Given the description of an element on the screen output the (x, y) to click on. 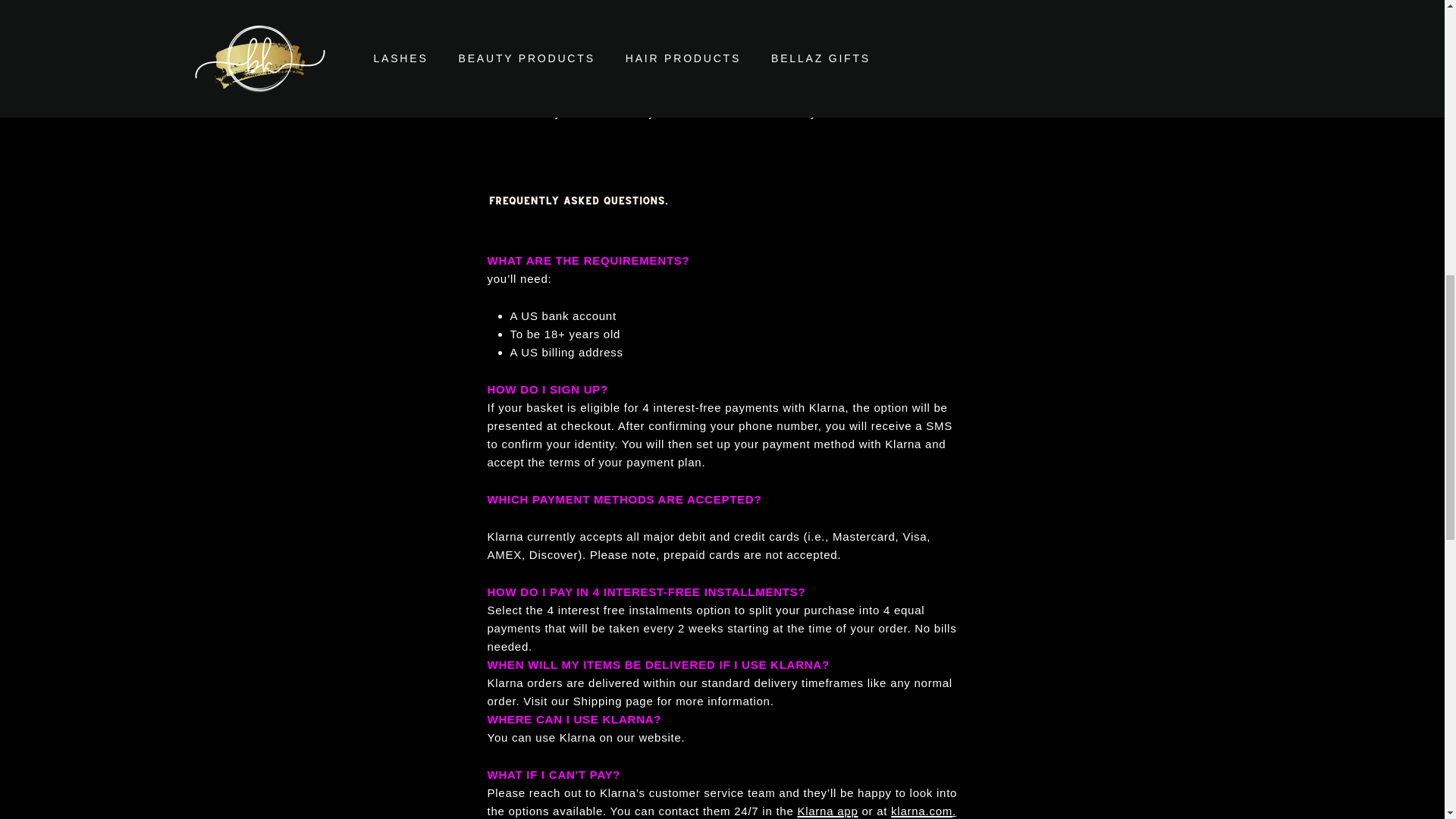
Klarna app (826, 810)
klarna.com (921, 810)
